Given the description of an element on the screen output the (x, y) to click on. 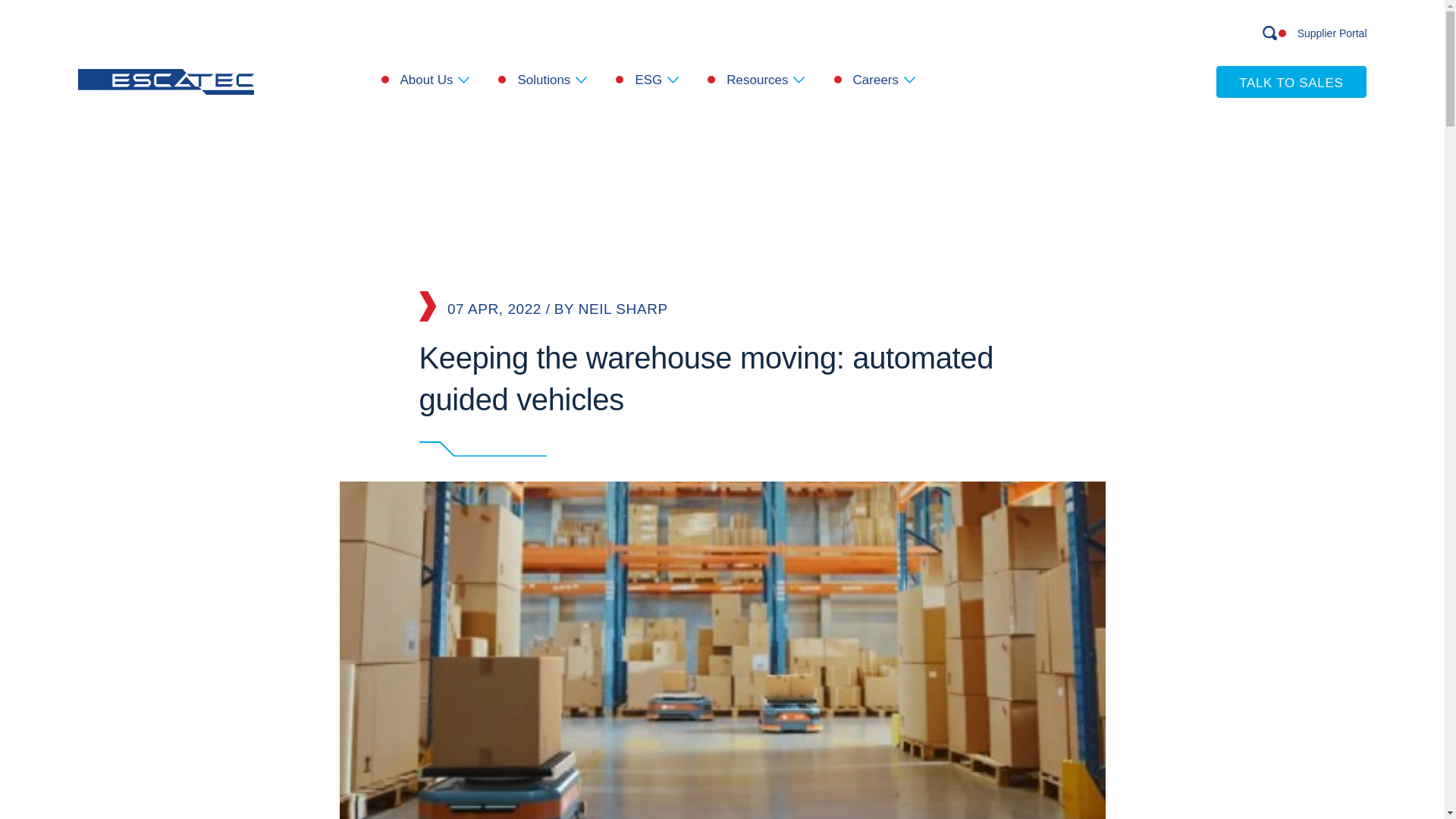
Escatec-Logo (165, 81)
About Us (435, 79)
Supplier Portal (1332, 32)
